Given the description of an element on the screen output the (x, y) to click on. 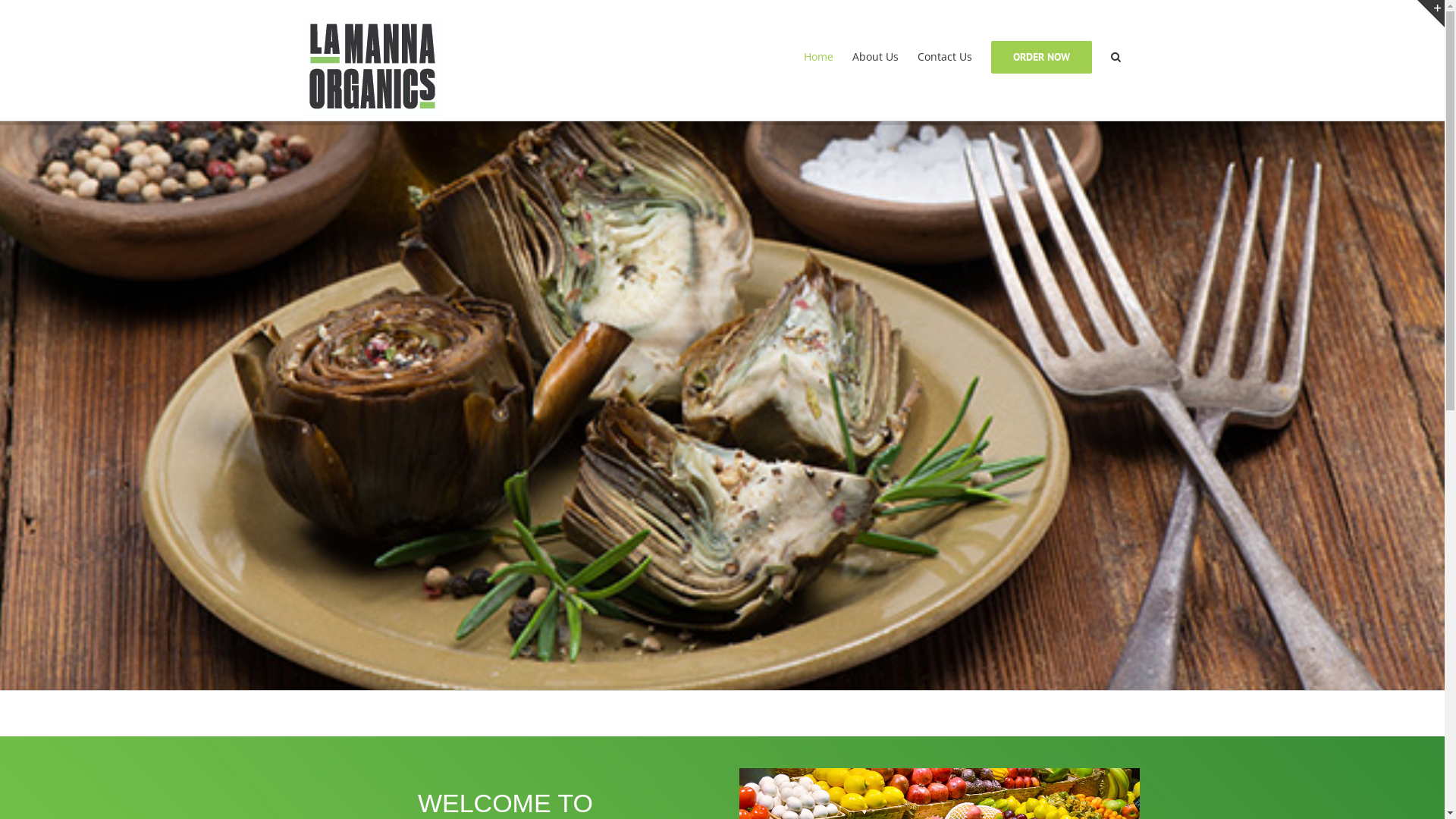
About Us Element type: text (875, 56)
Search Element type: hover (1115, 56)
Toggle Sliding Bar Area Element type: text (1430, 13)
ORDER NOW Element type: text (1040, 56)
Contact Us Element type: text (944, 56)
Home Element type: text (818, 56)
